Given the description of an element on the screen output the (x, y) to click on. 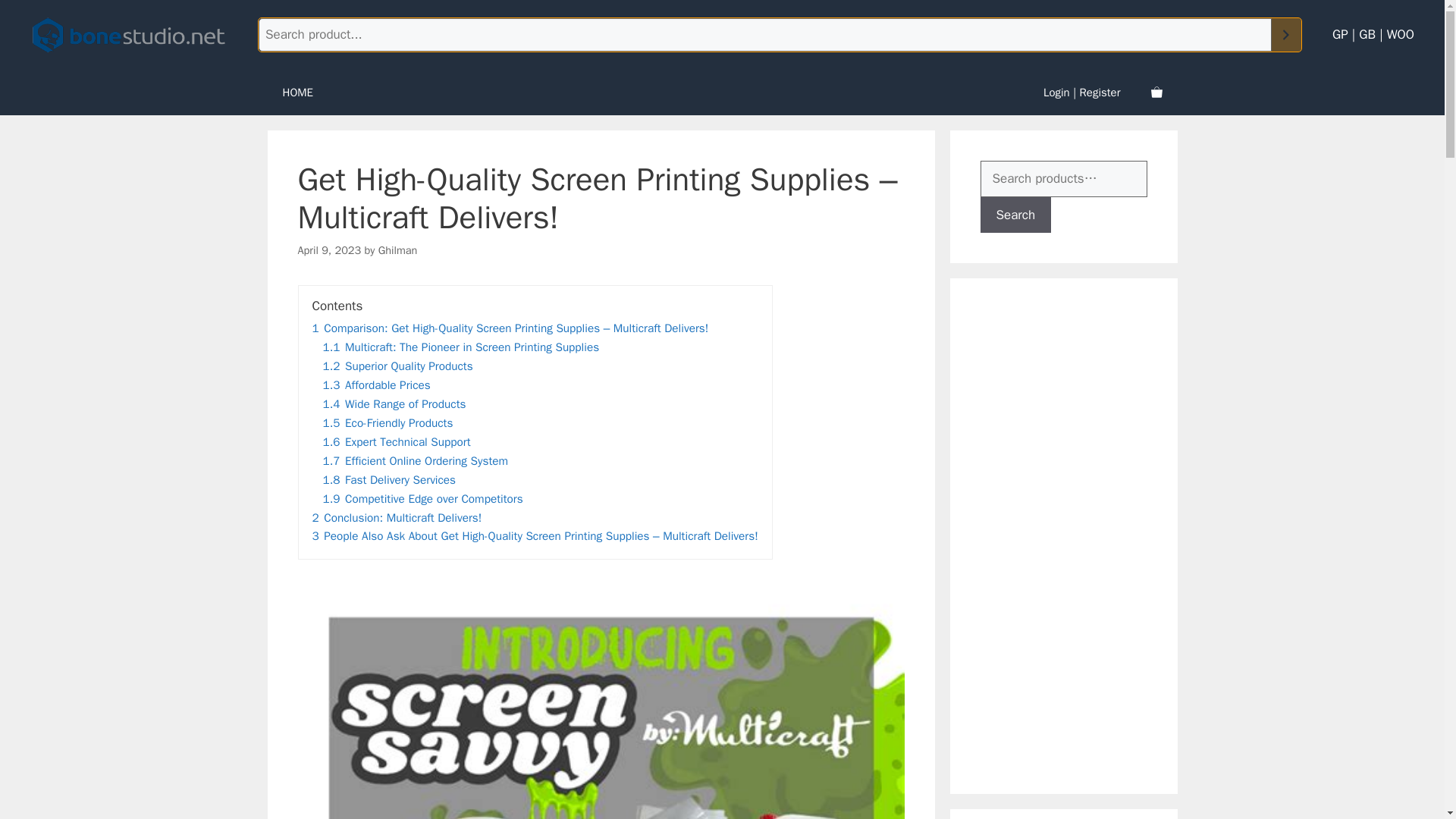
1.1 Multicraft: The Pioneer in Screen Printing Supplies (461, 346)
1.9 Competitive Edge over Competitors (422, 498)
2 Conclusion: Multicraft Delivers! (397, 517)
1.5 Eco-Friendly Products (387, 422)
View all posts by Ghilman (397, 250)
Advertisement (1091, 535)
1.4 Wide Range of Products (394, 403)
1.8 Fast Delivery Services (390, 479)
Ghilman (397, 250)
1.7 Efficient Online Ordering System (415, 460)
HOME (296, 92)
1.2 Superior Quality Products (398, 365)
Search (1015, 215)
1.6 Expert Technical Support (396, 441)
View your shopping cart (1156, 92)
